Given the description of an element on the screen output the (x, y) to click on. 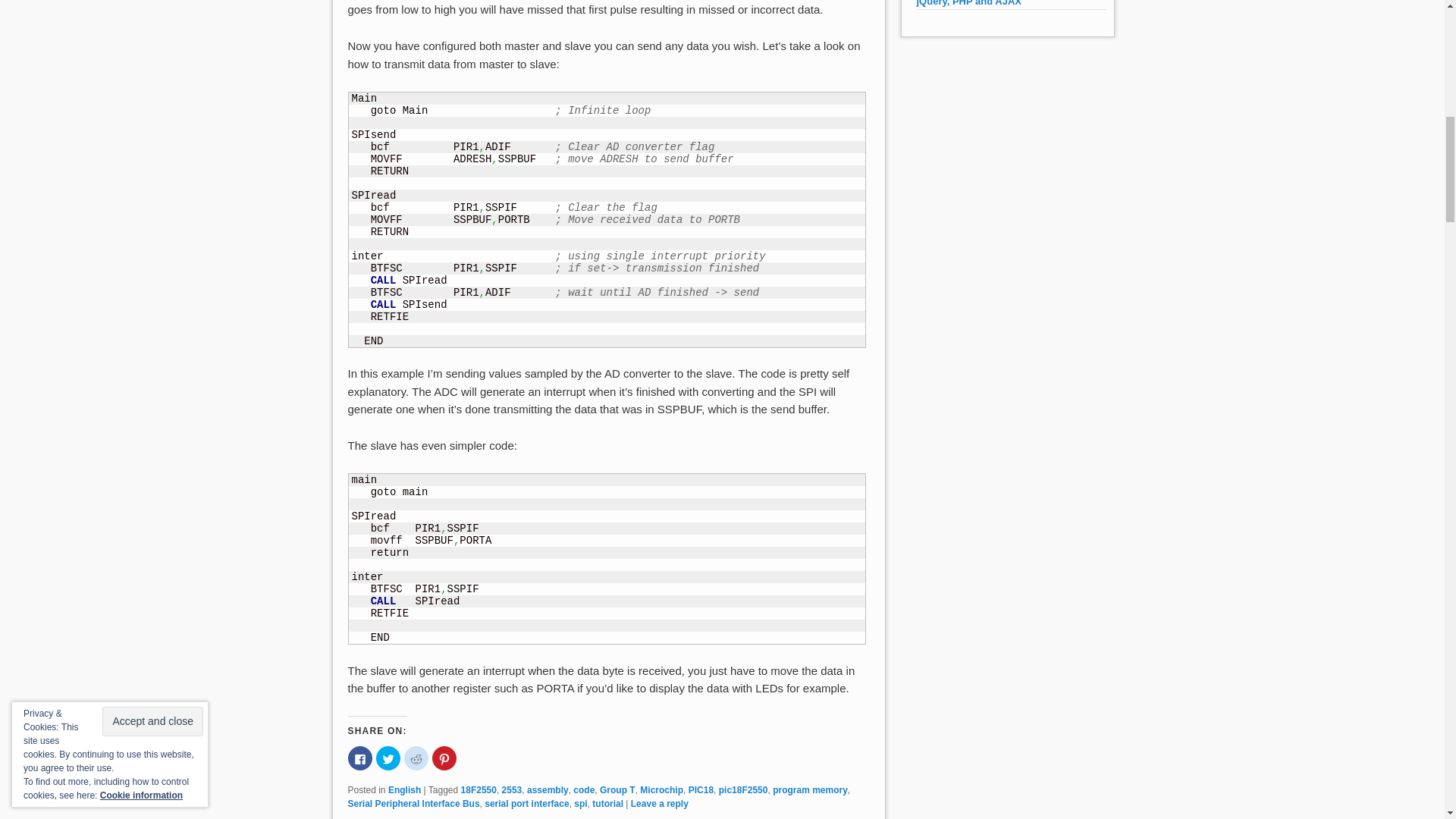
Leave a reply (659, 803)
spi (579, 803)
pic18F2550 (743, 789)
Click to share on Facebook (359, 758)
Click to share on Reddit (415, 758)
program memory (810, 789)
Click to share on Pinterest (444, 758)
code (583, 789)
Serial Peripheral Interface Bus (413, 803)
tutorial (607, 803)
2553 (512, 789)
Microchip (661, 789)
serial port interface (526, 803)
PIC18 (700, 789)
18F2550 (478, 789)
